Given the description of an element on the screen output the (x, y) to click on. 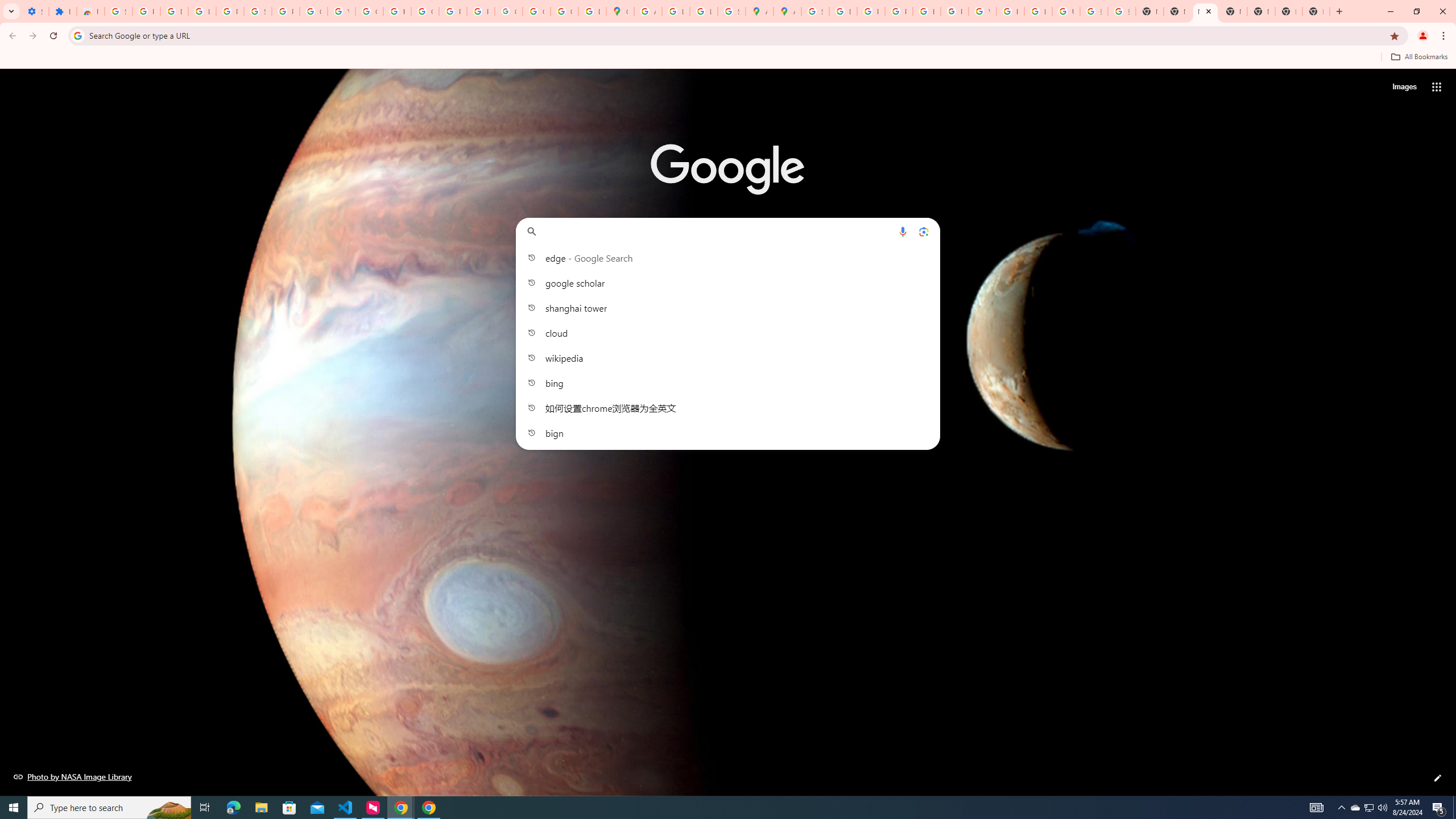
YouTube (982, 11)
Search Google or type a URL (727, 230)
New Tab (1316, 11)
Search by image (922, 230)
All Bookmarks (1418, 56)
